Given the description of an element on the screen output the (x, y) to click on. 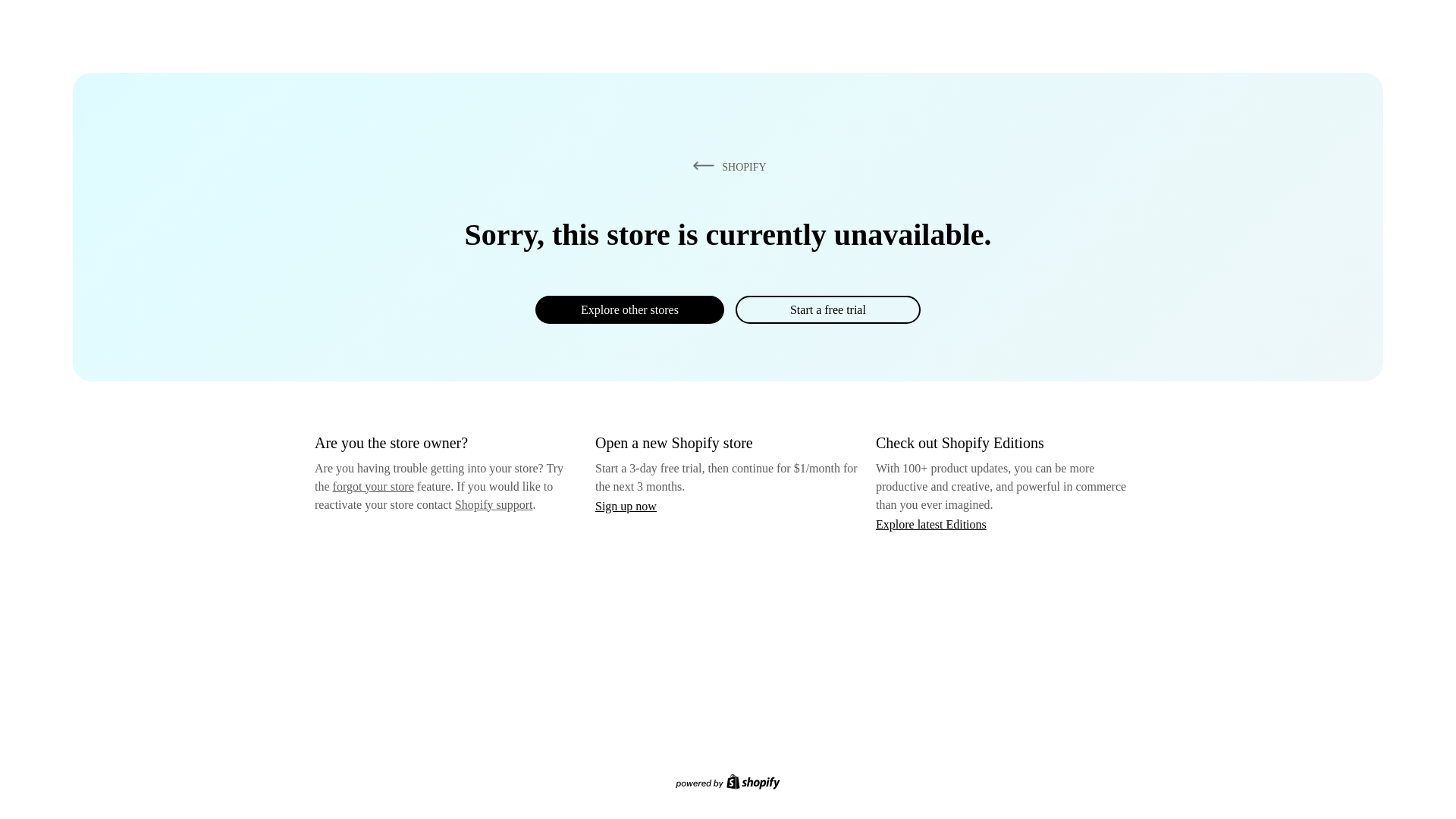
Start a free trial (827, 309)
Sign up now (625, 505)
Shopify support (493, 504)
Explore latest Editions (931, 523)
forgot your store (373, 486)
Explore other stores (629, 309)
SHOPIFY (726, 166)
